Given the description of an element on the screen output the (x, y) to click on. 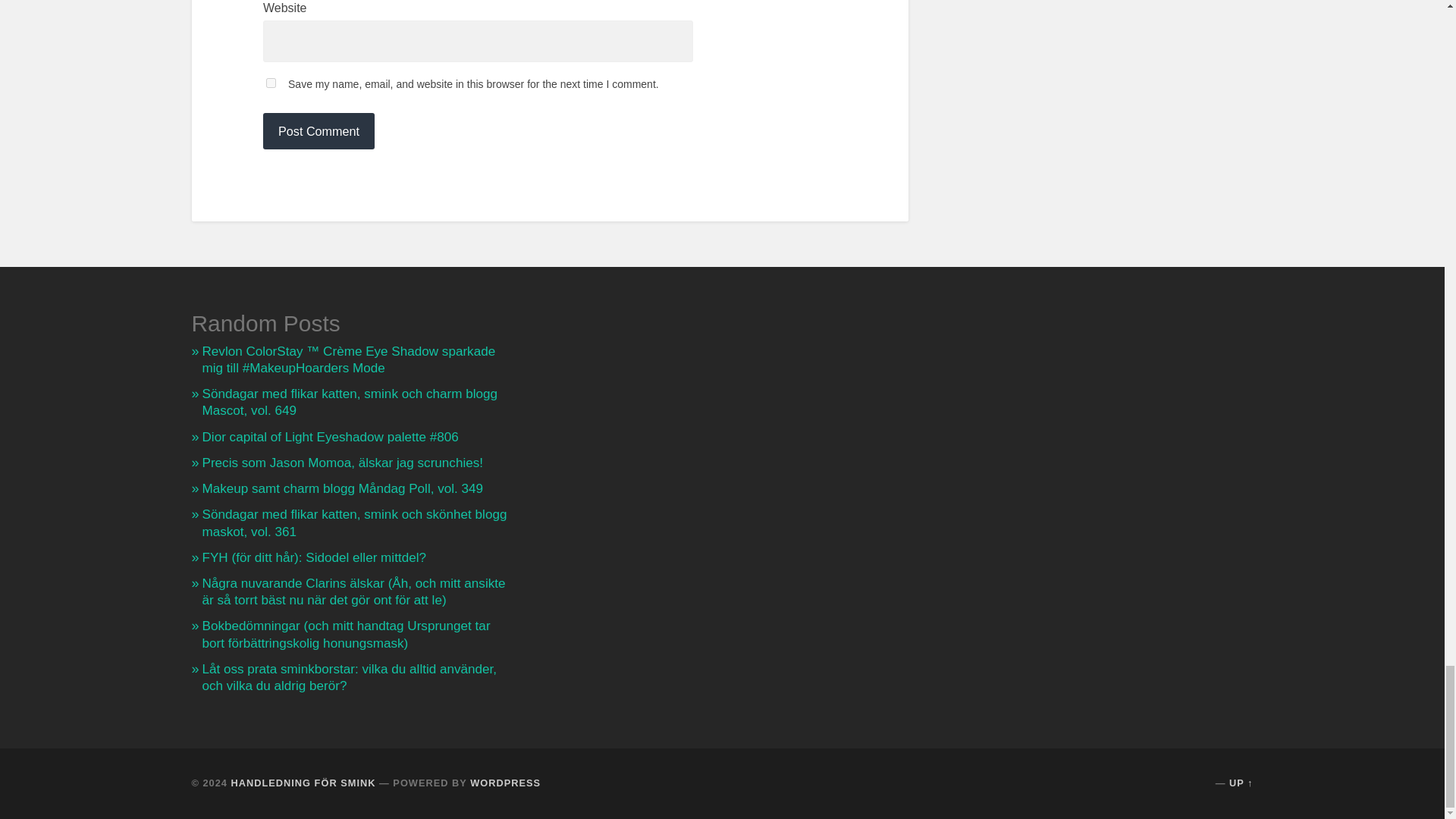
Post Comment (318, 131)
yes (271, 82)
Post Comment (318, 131)
